Given the description of an element on the screen output the (x, y) to click on. 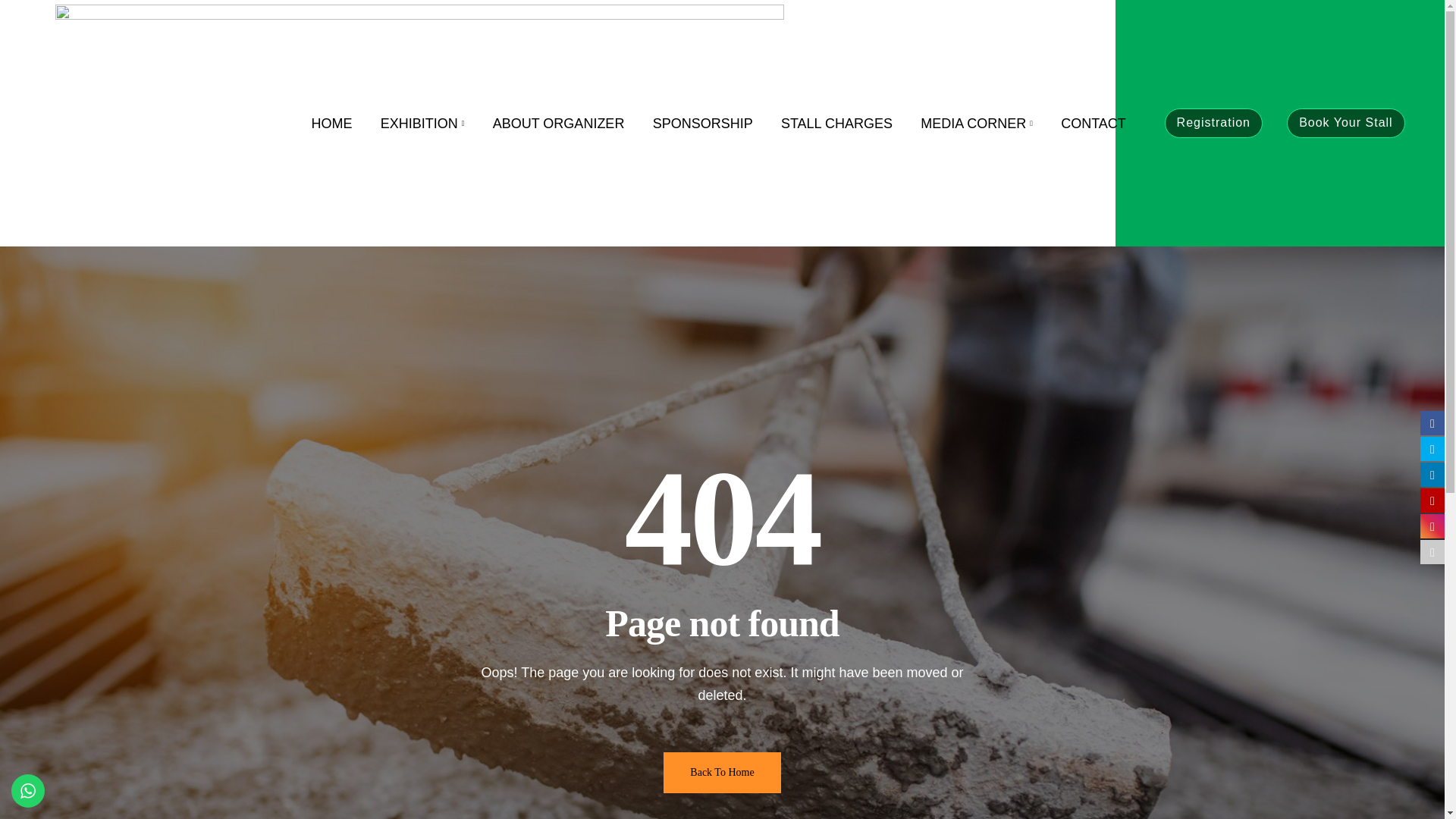
Book Your Stall (1346, 123)
Back To Home (721, 772)
EXHIBITION (422, 123)
CONTACT (1093, 123)
MEDIA CORNER (976, 123)
STALL CHARGES (836, 123)
WhatsApp us (28, 790)
SPONSORSHIP (703, 123)
Registration (1213, 123)
ABOUT ORGANIZER (559, 123)
HOME (331, 123)
